Given the description of an element on the screen output the (x, y) to click on. 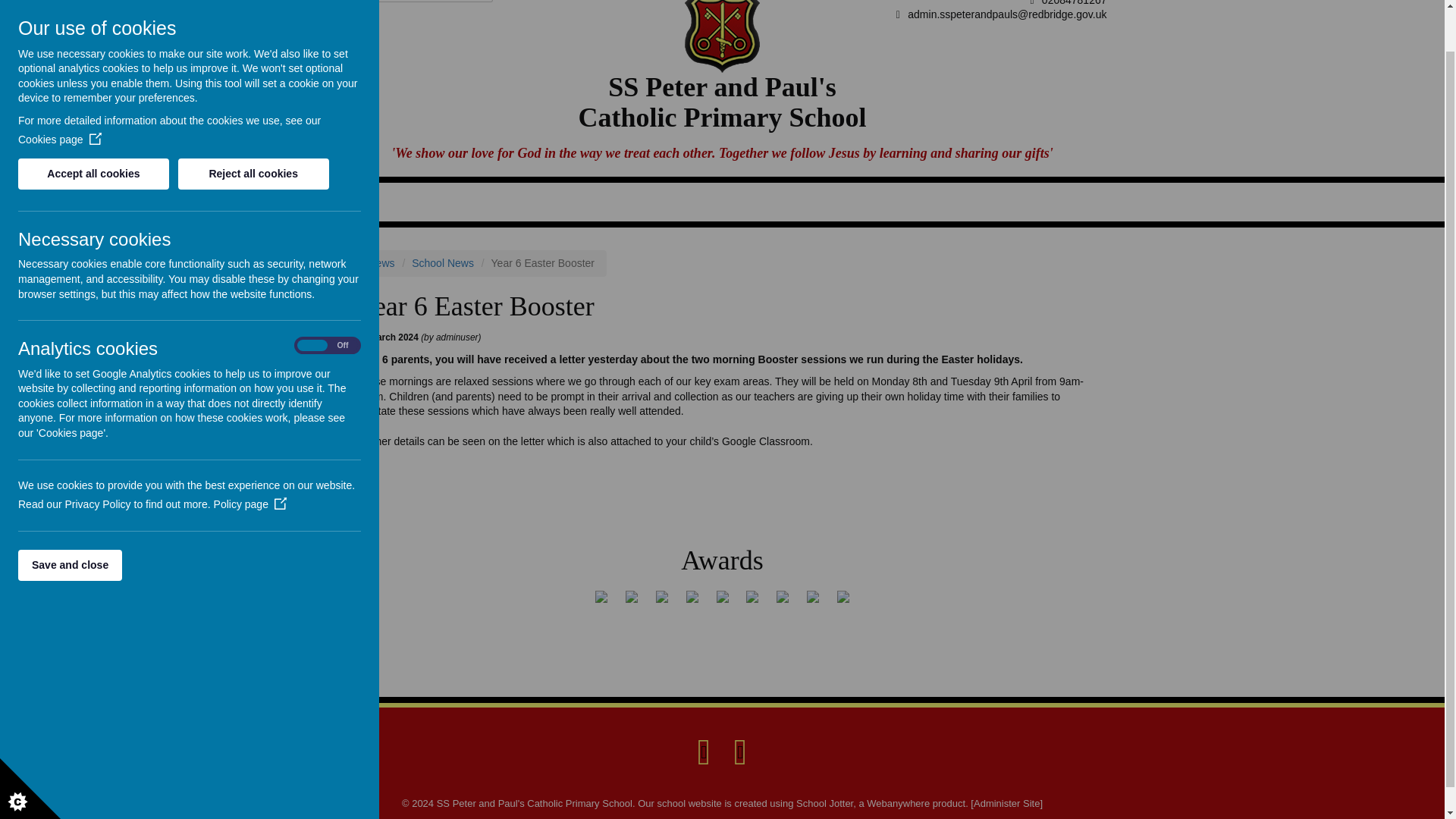
Cookie Control Icon (30, 743)
Search (483, 1)
Facebook (703, 751)
on (327, 300)
Twitter (740, 751)
